Given the description of an element on the screen output the (x, y) to click on. 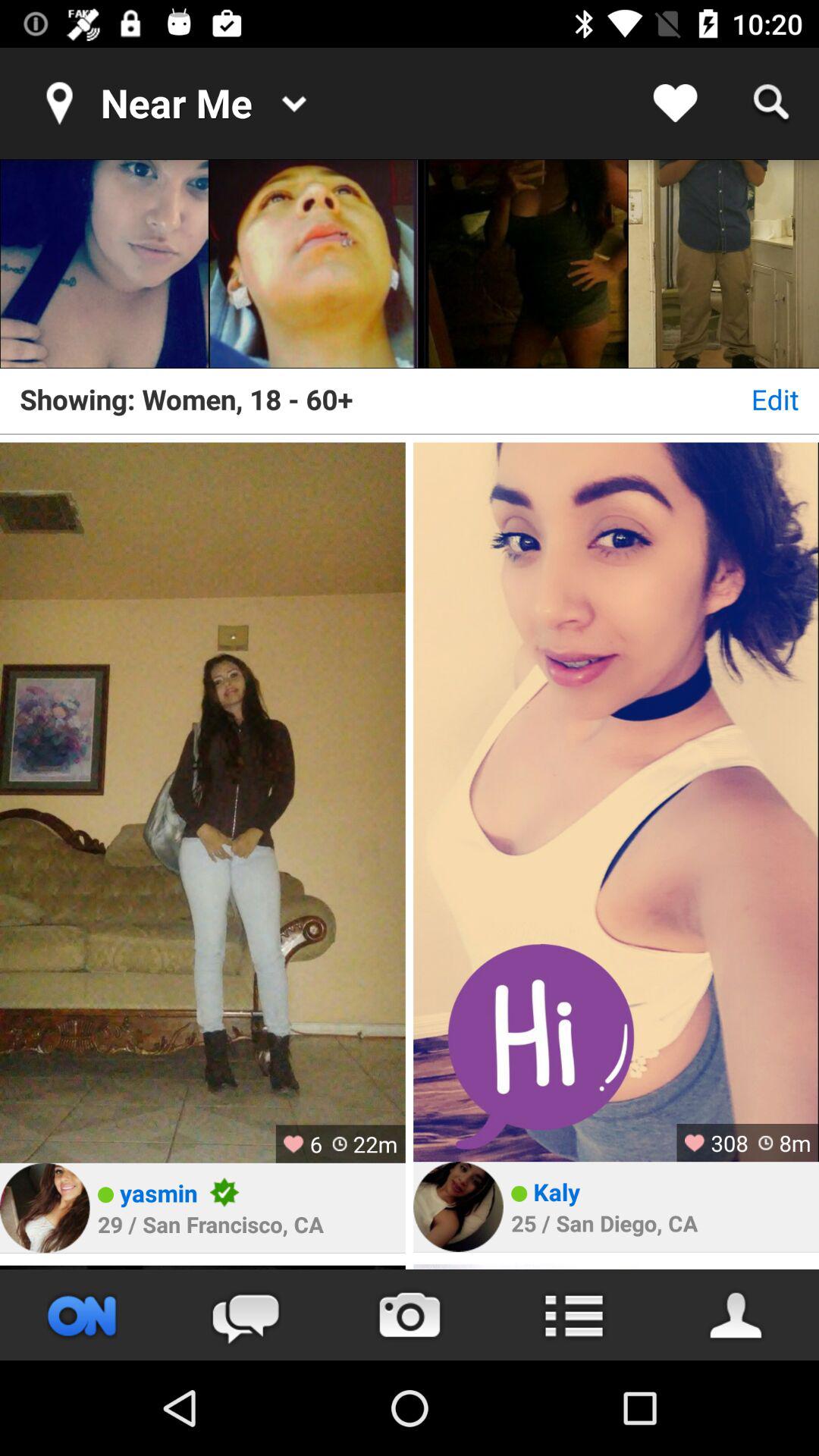
person image (313, 263)
